Given the description of an element on the screen output the (x, y) to click on. 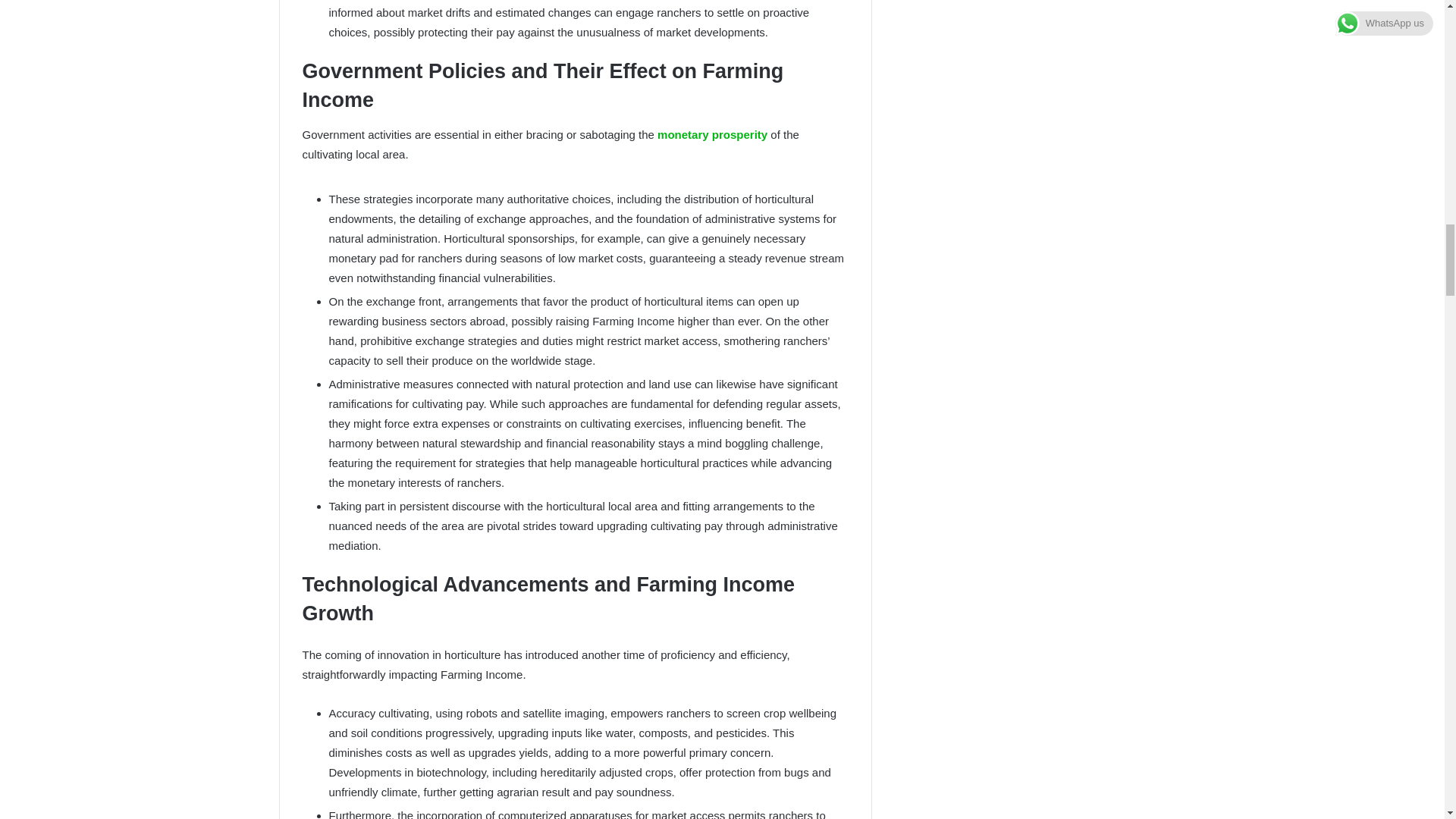
monetary prosperity (712, 133)
